Given the description of an element on the screen output the (x, y) to click on. 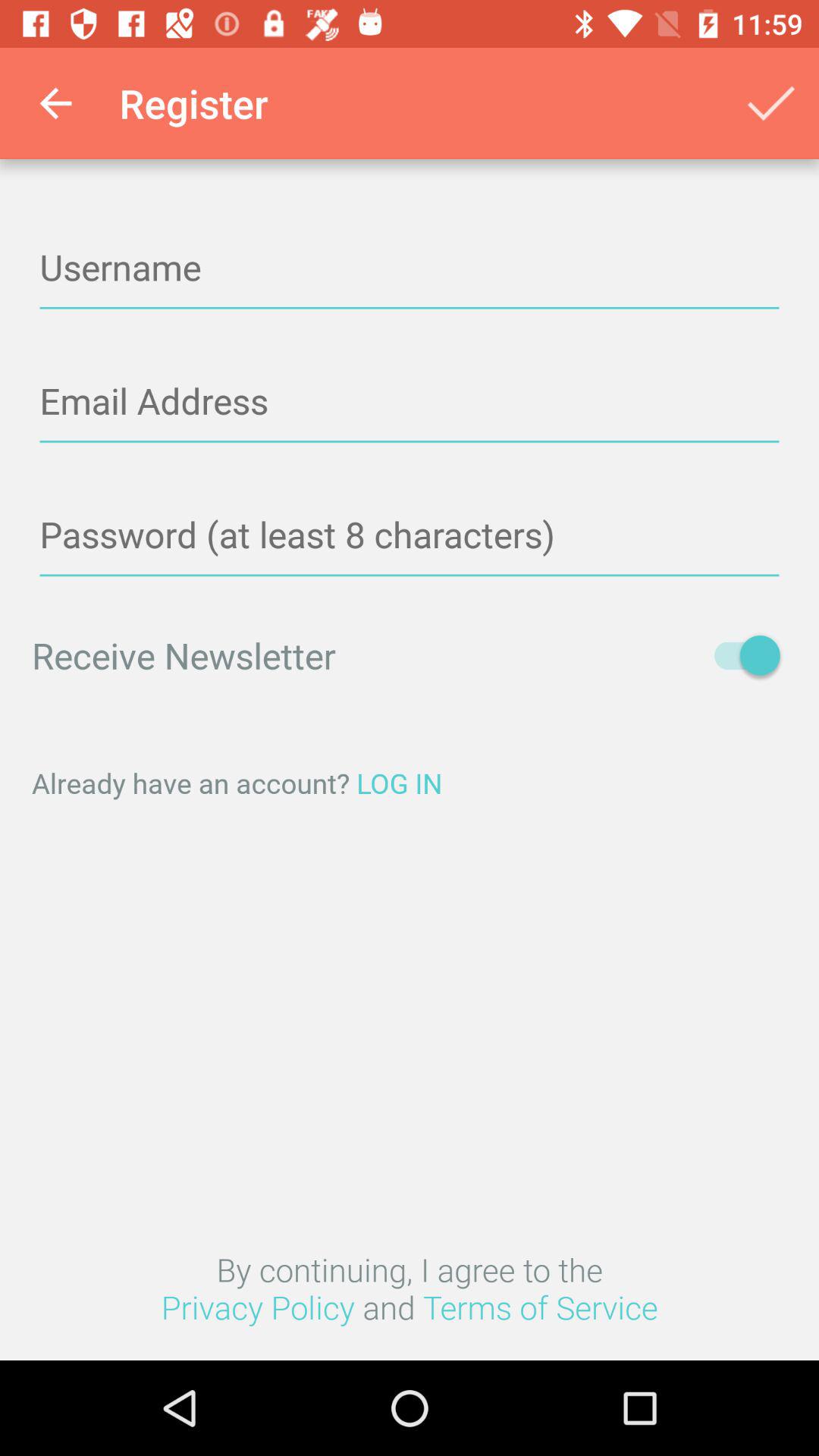
turn off the item below the already have an (409, 1287)
